Given the description of an element on the screen output the (x, y) to click on. 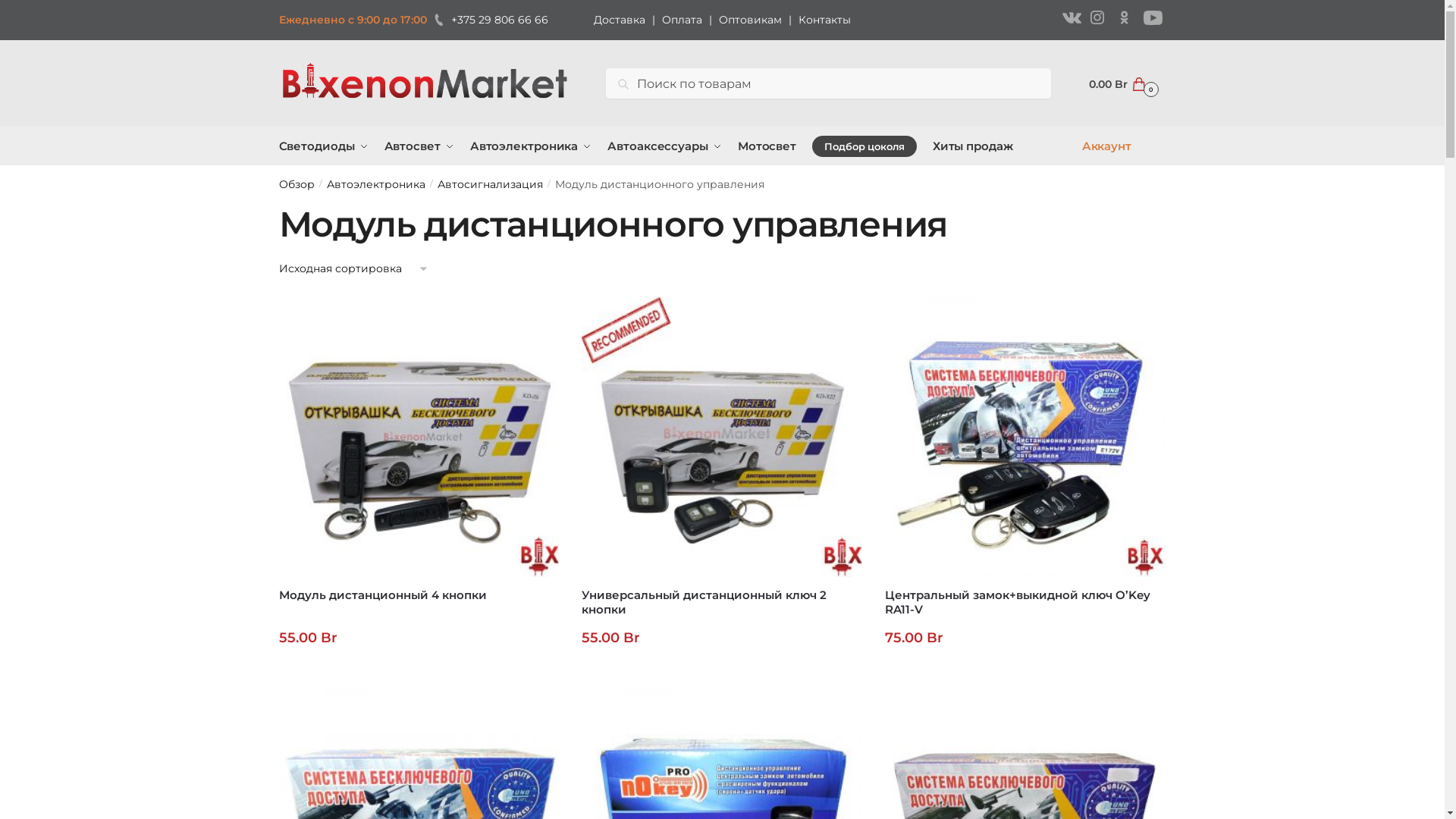
0.00 Br 0 Element type: text (1121, 83)
+375 29 806 66 66 Element type: text (486, 19)
